Given the description of an element on the screen output the (x, y) to click on. 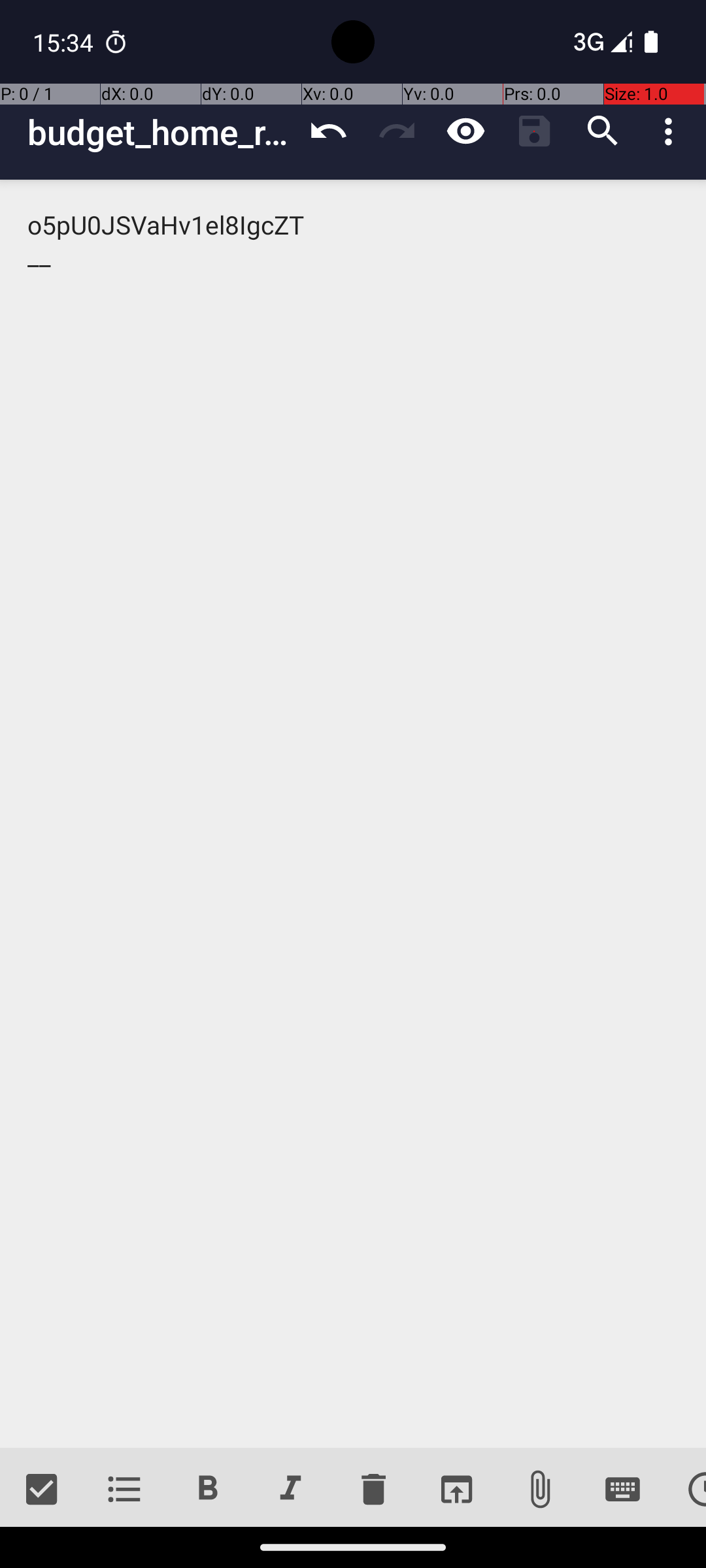
budget_home_renovation_final Element type: android.widget.TextView (160, 131)
o5pU0JSVaHv1el8IgcZT
__ Element type: android.widget.EditText (353, 813)
